Given the description of an element on the screen output the (x, y) to click on. 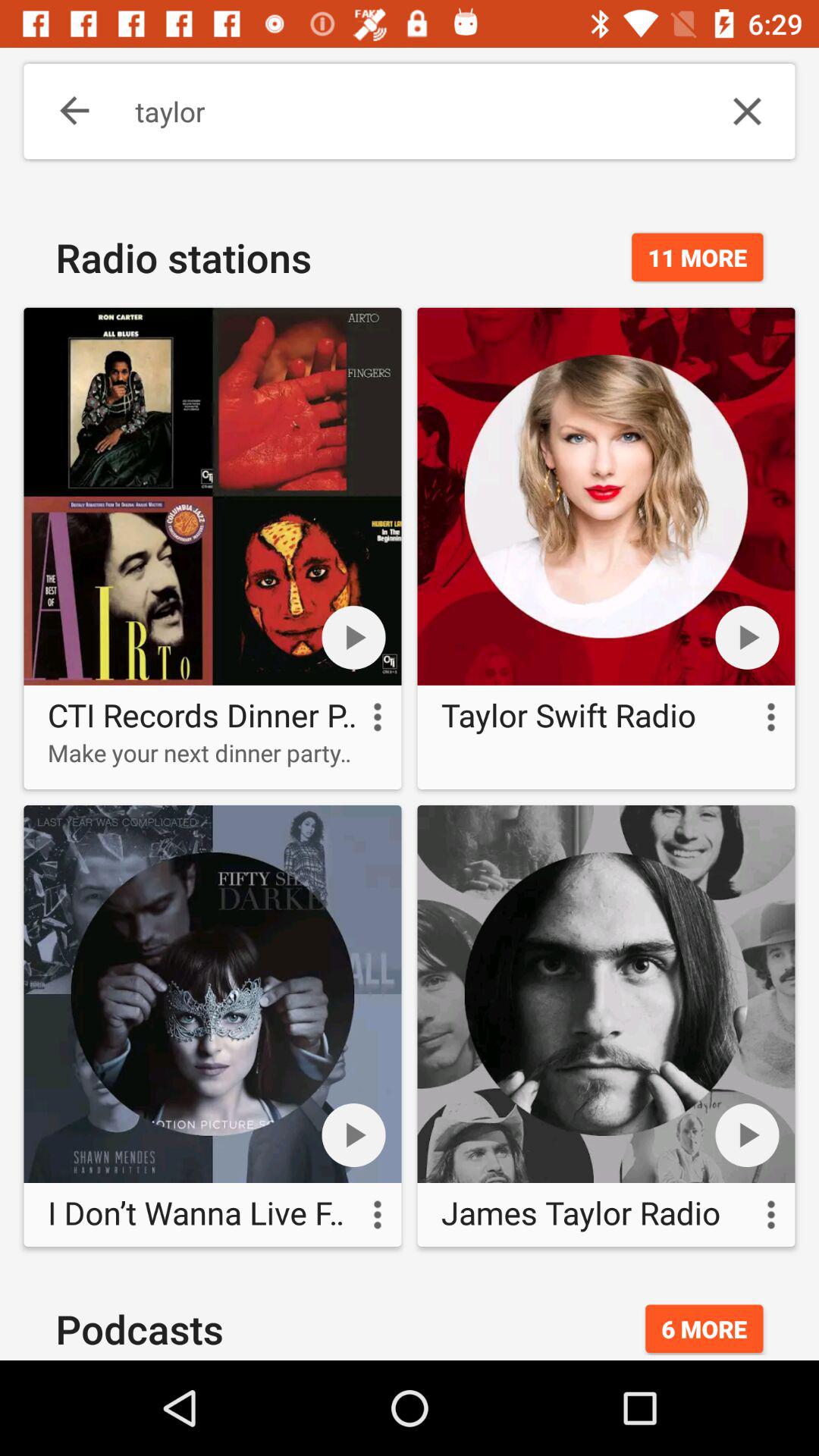
turn off the icon next to taylor item (747, 111)
